Given the description of an element on the screen output the (x, y) to click on. 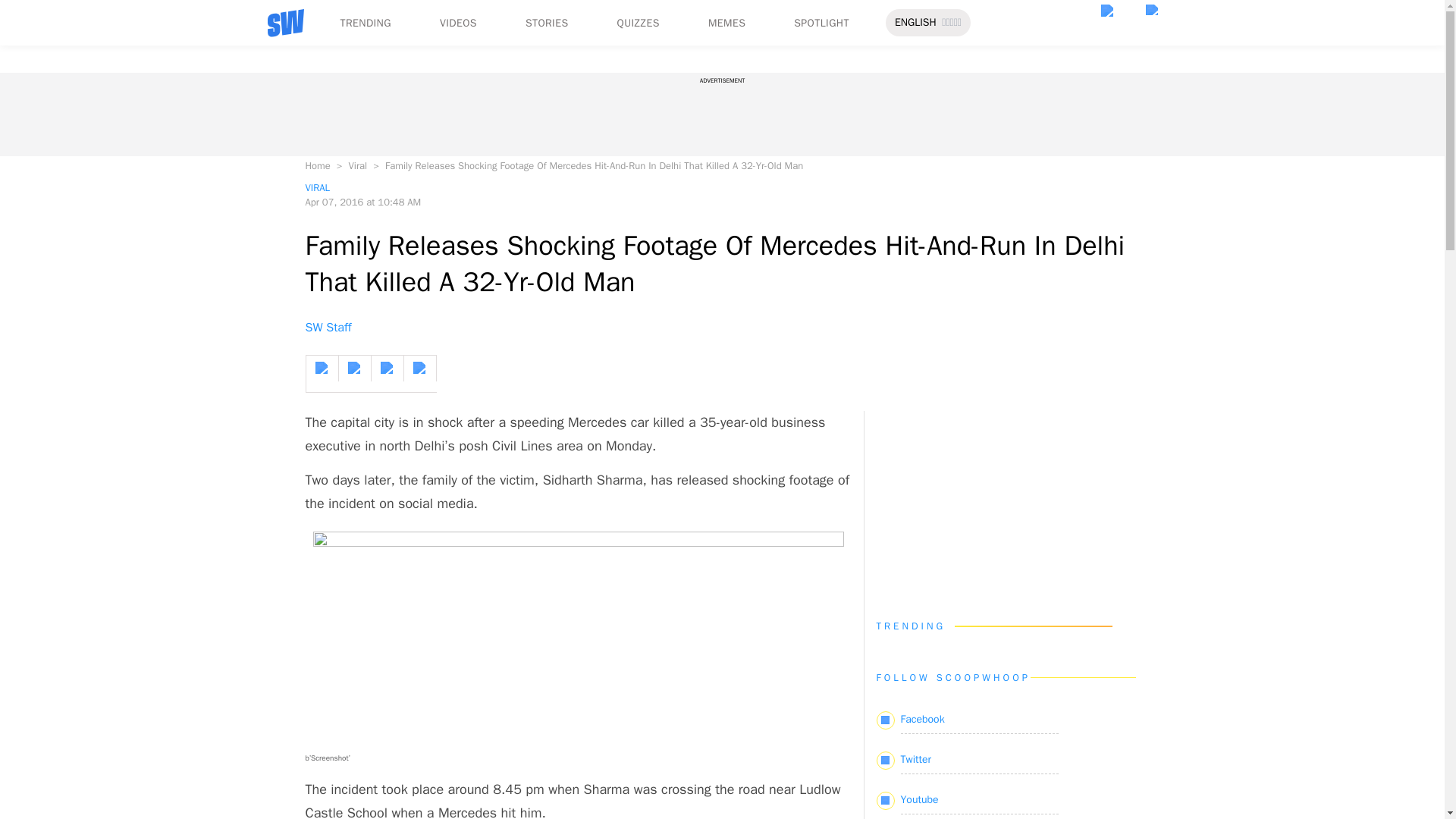
TRENDING (364, 22)
QUIZZES (638, 22)
ENGLISH (915, 22)
STORIES (547, 22)
MEMES (726, 22)
SPOTLIGHT (820, 22)
VIDEOS (458, 22)
